Given the description of an element on the screen output the (x, y) to click on. 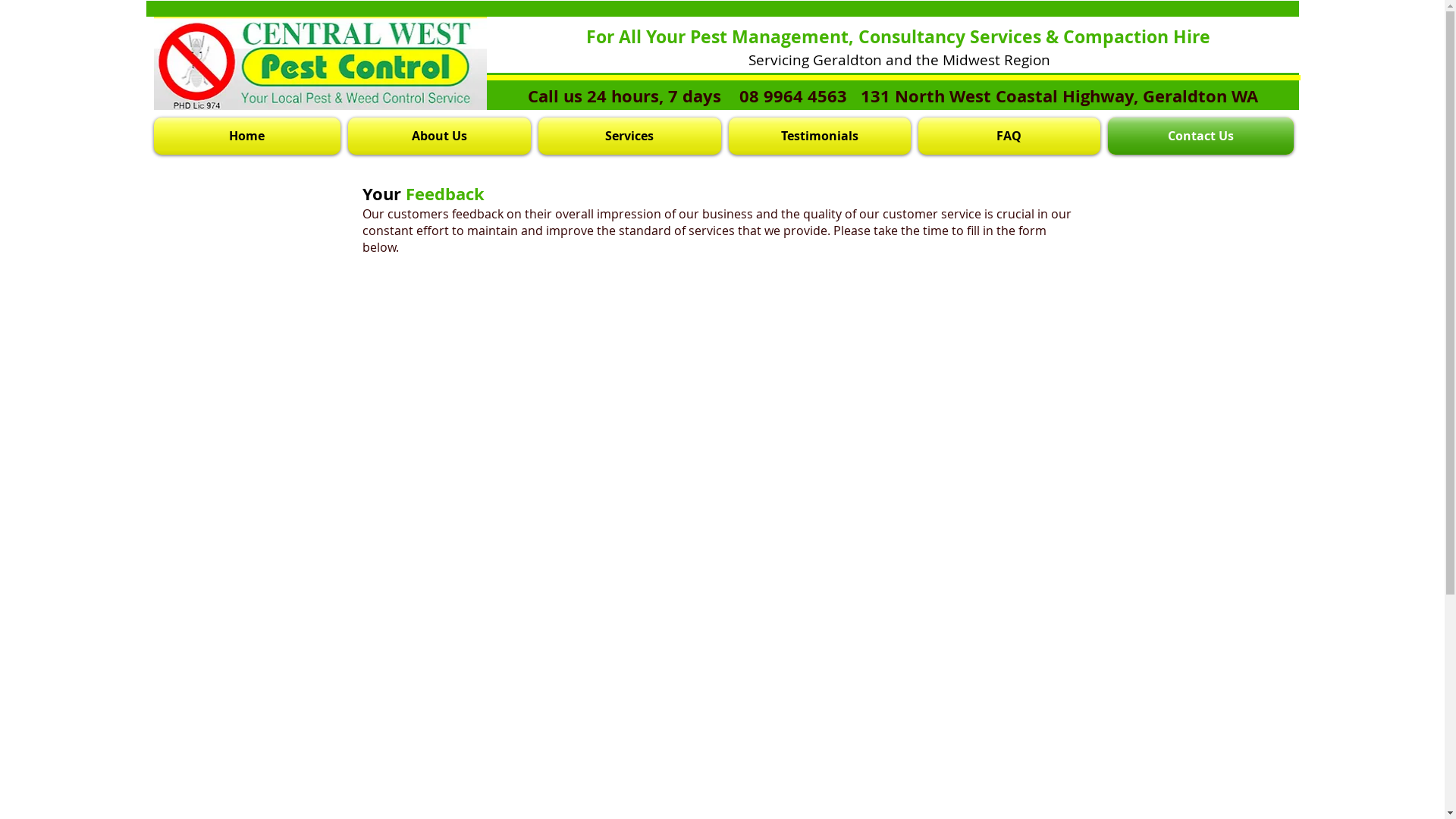
logo.jpg Element type: hover (319, 62)
Home Element type: text (248, 135)
Testimonials Element type: text (819, 135)
About Us Element type: text (439, 135)
Services Element type: text (628, 135)
Contact Us Element type: text (1198, 135)
FAQ Element type: text (1009, 135)
